Given the description of an element on the screen output the (x, y) to click on. 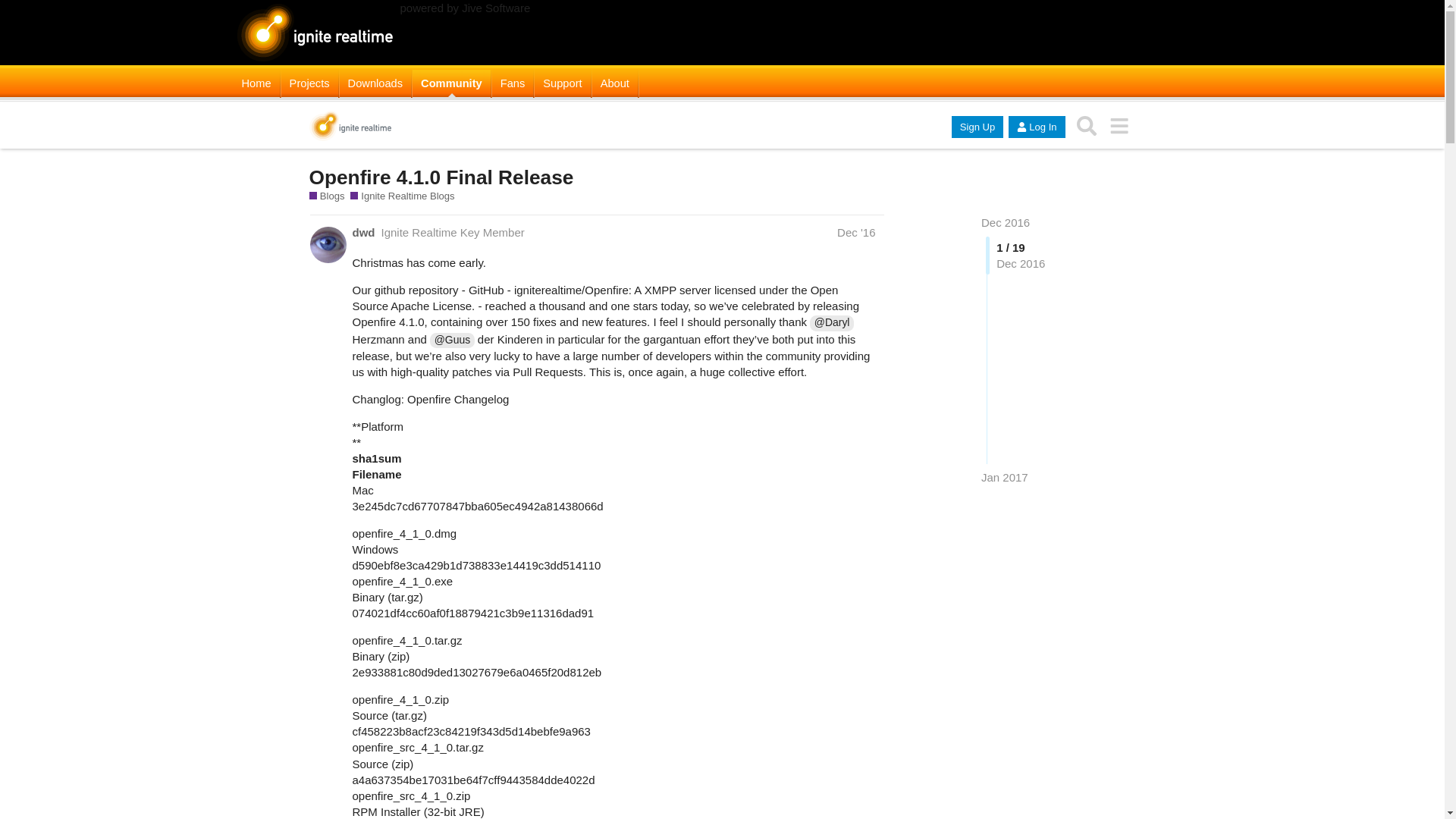
Openfire 4.1.0 Final Release (440, 177)
Ignite Realtime Blogs (402, 196)
Projects (309, 83)
Search (1086, 125)
Support (561, 83)
Community (451, 83)
Jan 2, 2017 7:47 pm (1004, 477)
Jan 2017 (1004, 477)
Dec '16 (856, 232)
Sign Up (977, 127)
Downloads (375, 83)
About (614, 83)
Dec 2016 (1005, 222)
Log In (1036, 127)
Dec 2016 (1005, 222)
